Given the description of an element on the screen output the (x, y) to click on. 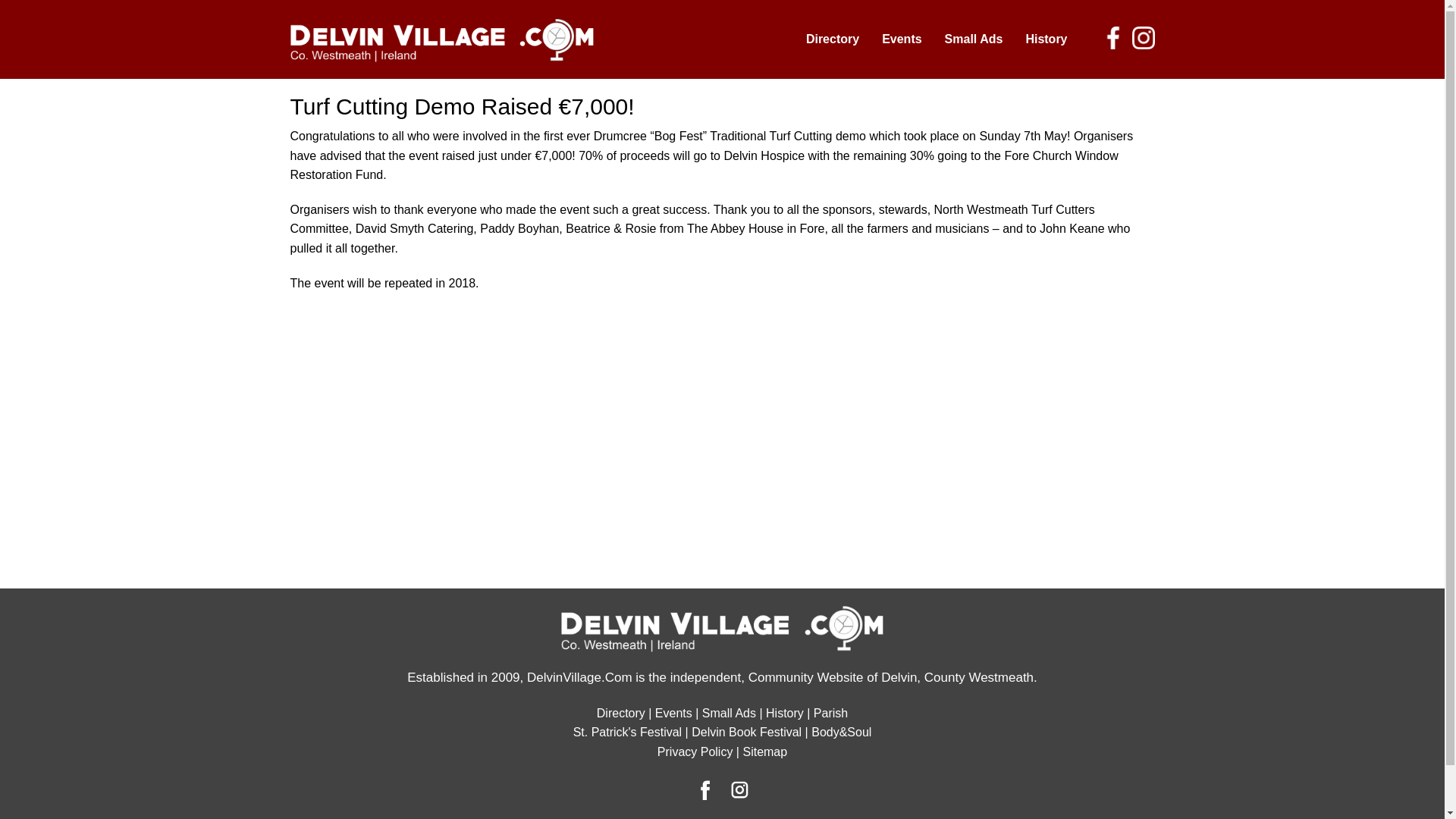
Parish (830, 712)
The community website of Delvin, County Westmeath (440, 39)
Small Ads (973, 39)
Directory (620, 712)
Events (901, 39)
Events (674, 712)
Directory (832, 39)
Delvin Book Festival (746, 731)
Sitemap (764, 751)
History (1046, 39)
